Given the description of an element on the screen output the (x, y) to click on. 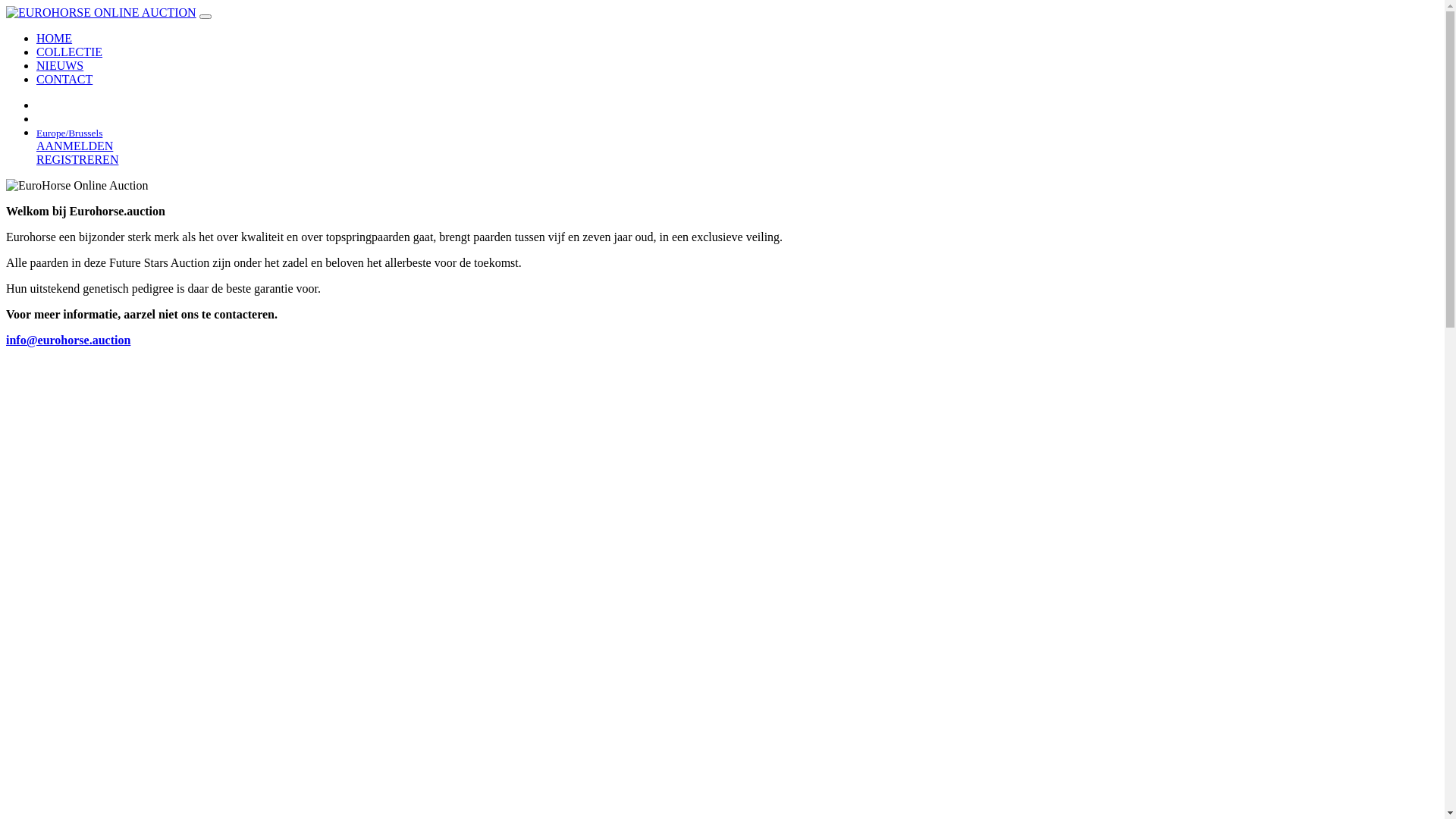
NIEUWS Element type: text (59, 65)
AANMELDEN Element type: text (74, 145)
REGISTREREN Element type: text (77, 159)
info@eurohorse.auction Element type: text (68, 339)
Europe/Brussels Element type: text (69, 131)
COLLECTIE Element type: text (69, 51)
CONTACT Element type: text (64, 78)
HOME Element type: text (54, 37)
